Given the description of an element on the screen output the (x, y) to click on. 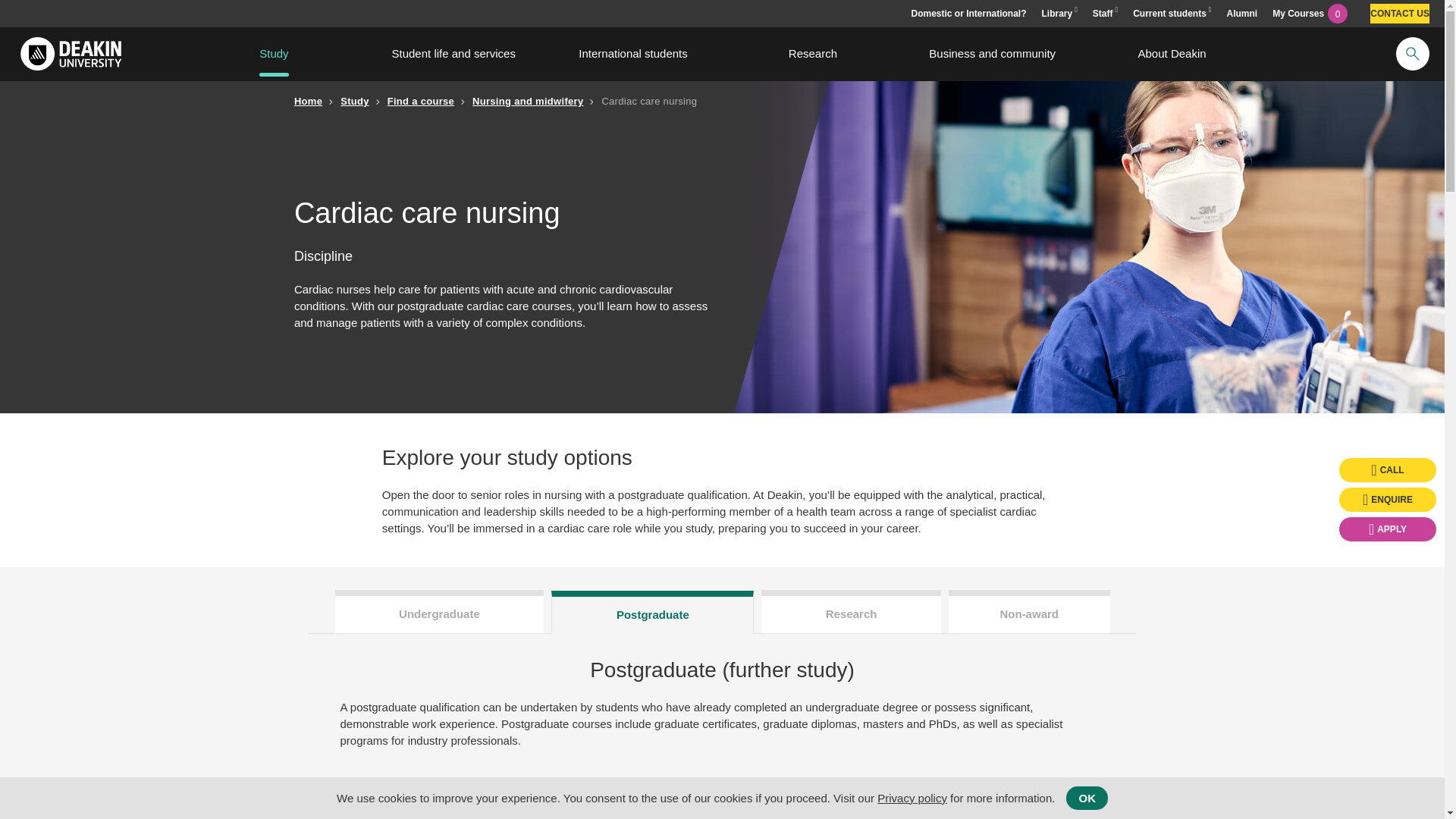
Deakin University Australia (69, 53)
Study (274, 53)
